Given the description of an element on the screen output the (x, y) to click on. 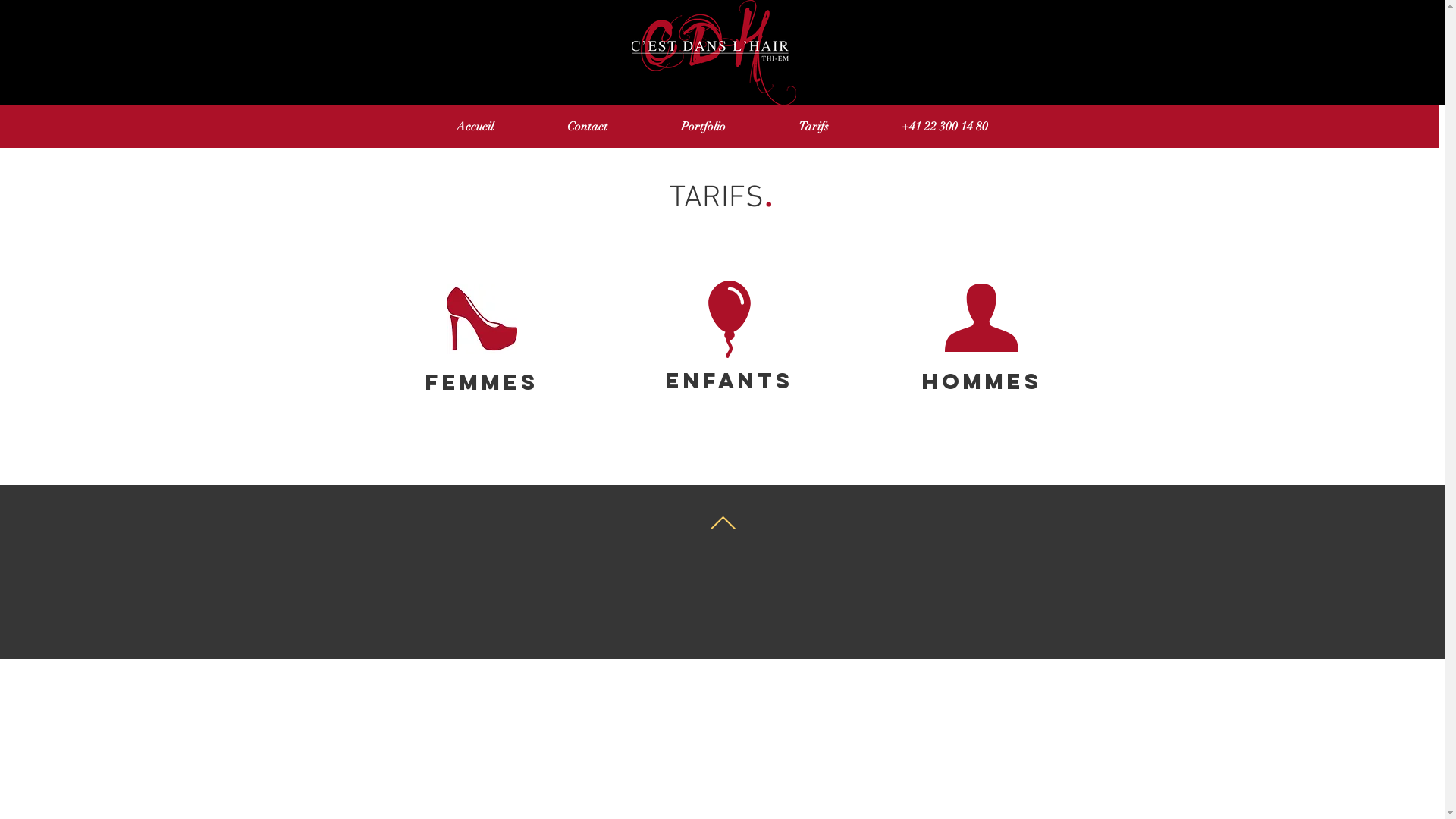
TWIPLA (Visitor Analytics) Element type: hover (405, 565)
Accueil Element type: text (475, 126)
Contact Element type: text (587, 126)
+41 22 300 14 80 Element type: text (943, 126)
Portfolio Element type: text (703, 126)
Tarifs Element type: text (812, 126)
